Given the description of an element on the screen output the (x, y) to click on. 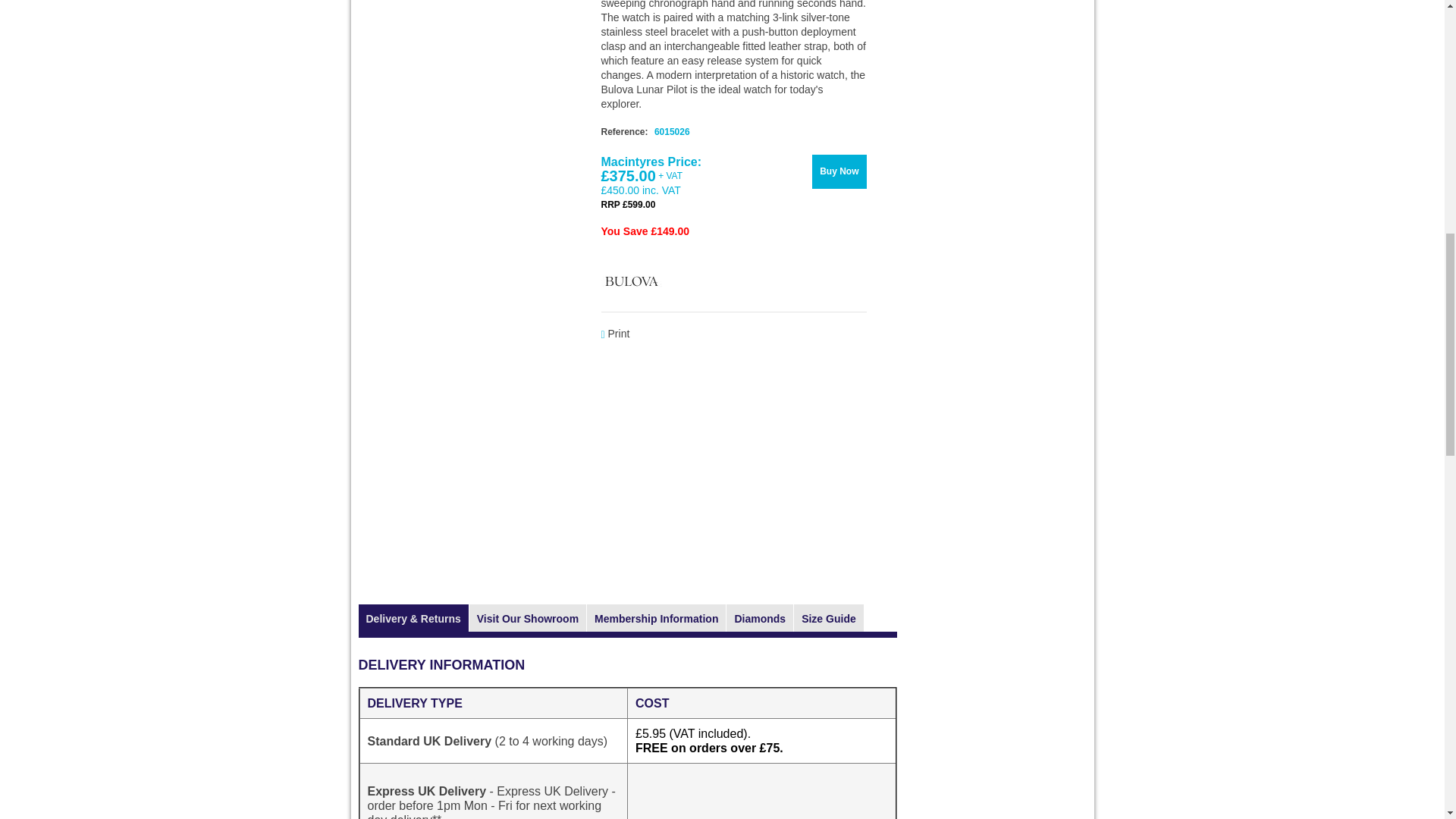
Buy Now (839, 171)
